Given the description of an element on the screen output the (x, y) to click on. 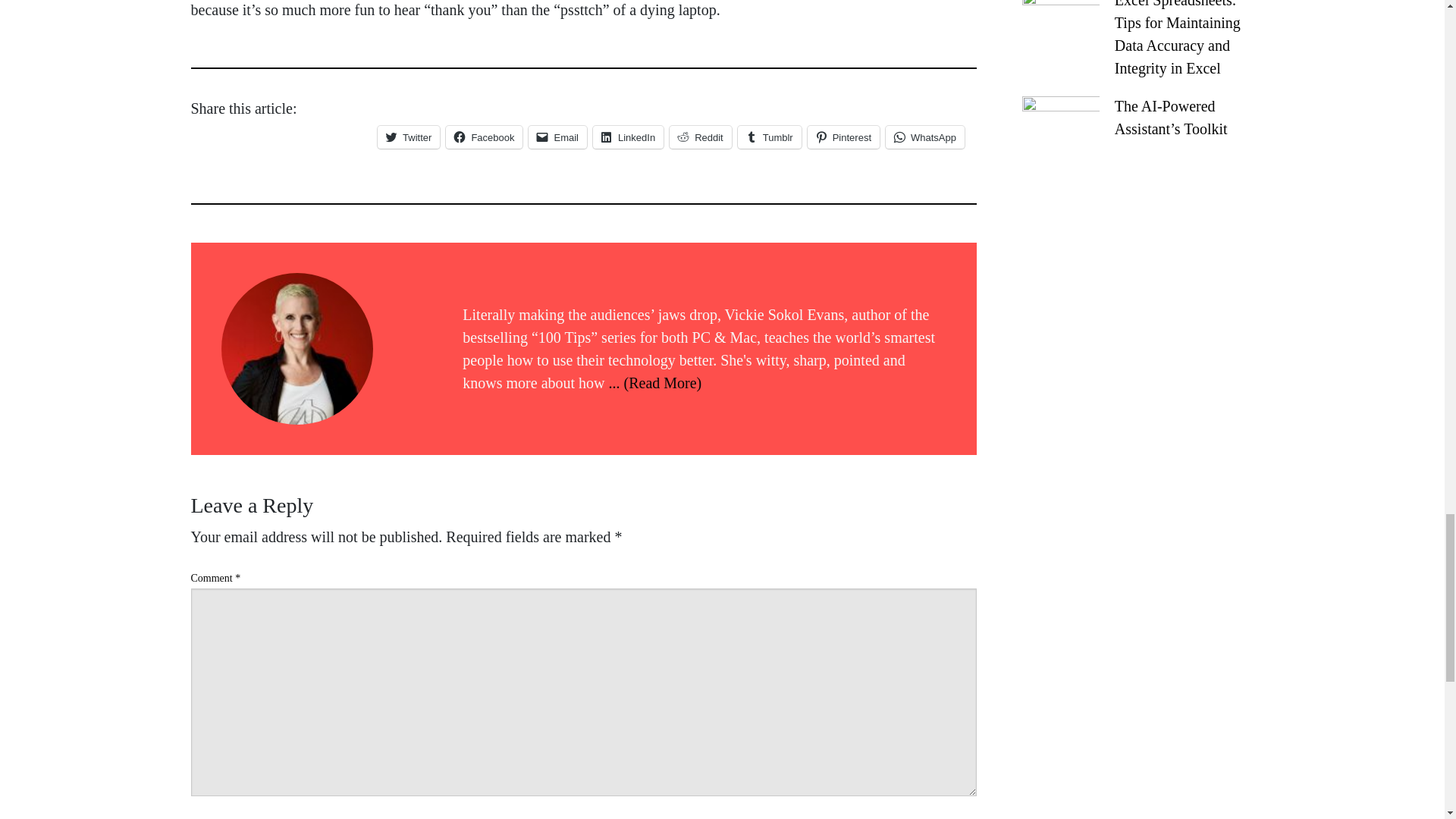
Click to share on Facebook (483, 137)
Click to share on Twitter (408, 137)
Click to share on Tumblr (770, 137)
Click to share on Pinterest (843, 137)
Click to email a link to a friend (557, 137)
Click to share on Reddit (700, 137)
Click to share on WhatsApp (924, 137)
Click to share on LinkedIn (627, 137)
